Given the description of an element on the screen output the (x, y) to click on. 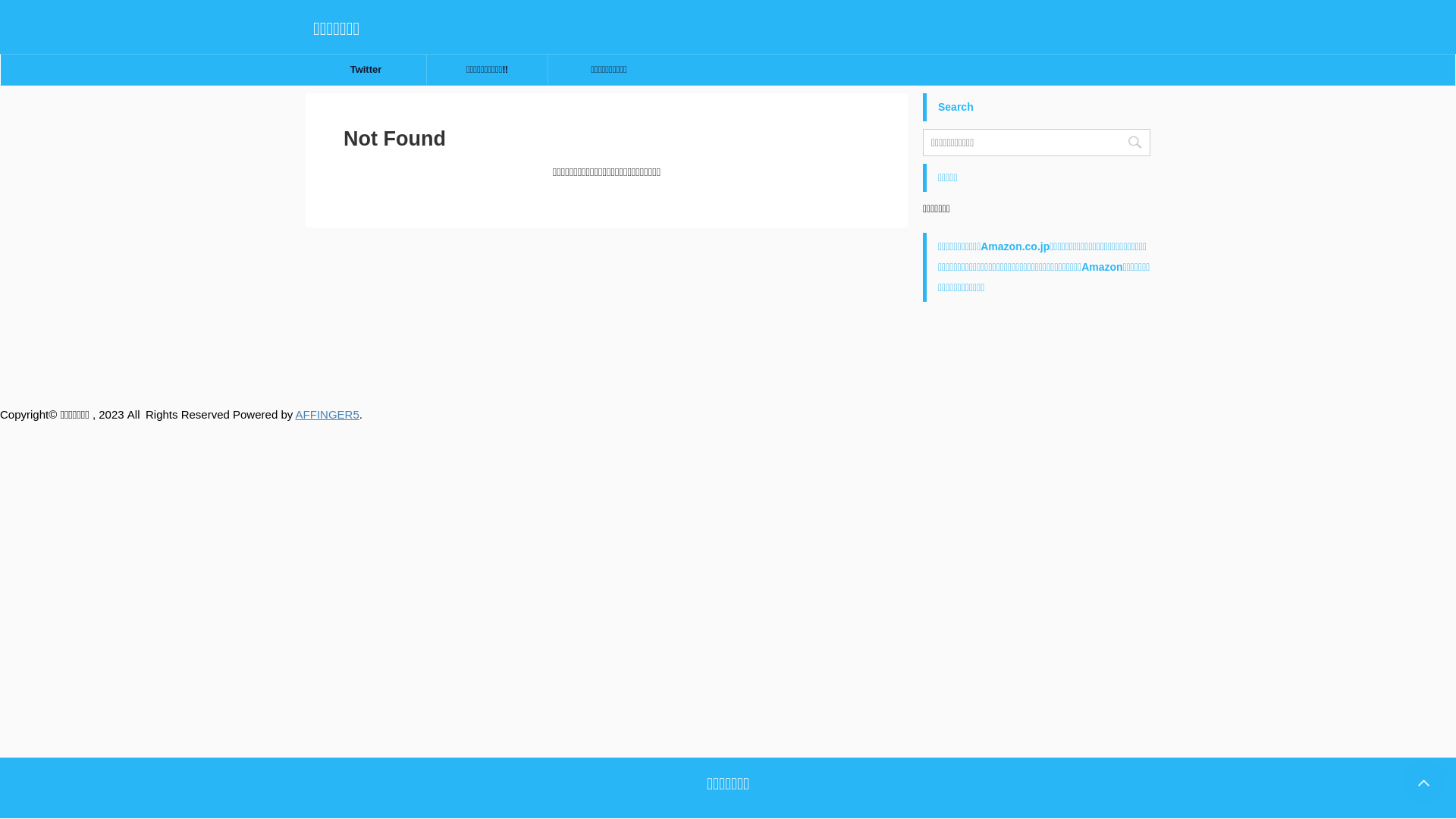
Twitter Element type: text (365, 69)
AFFINGER5 Element type: text (327, 413)
